Given the description of an element on the screen output the (x, y) to click on. 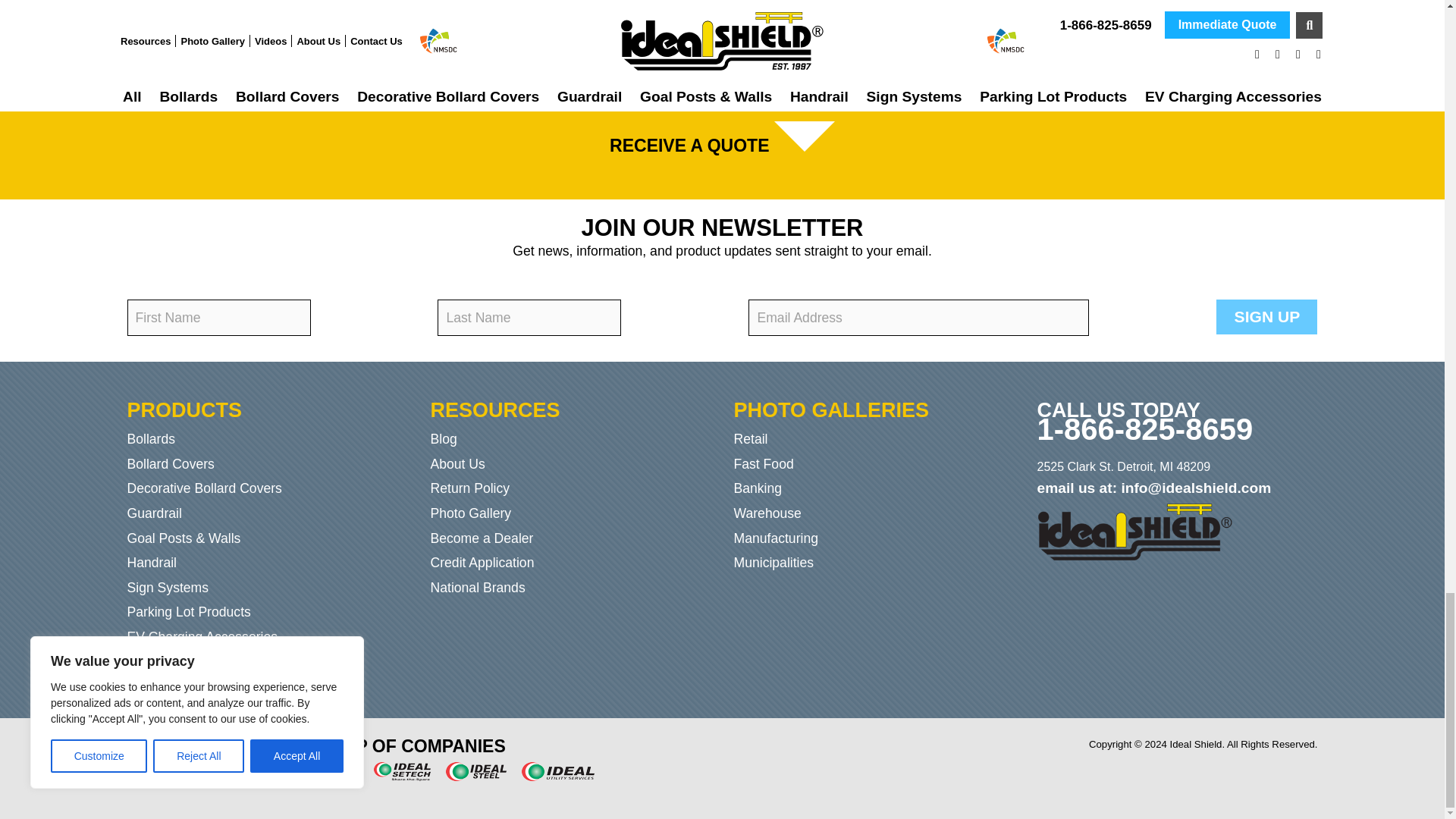
SIGN UP (1266, 316)
